Given the description of an element on the screen output the (x, y) to click on. 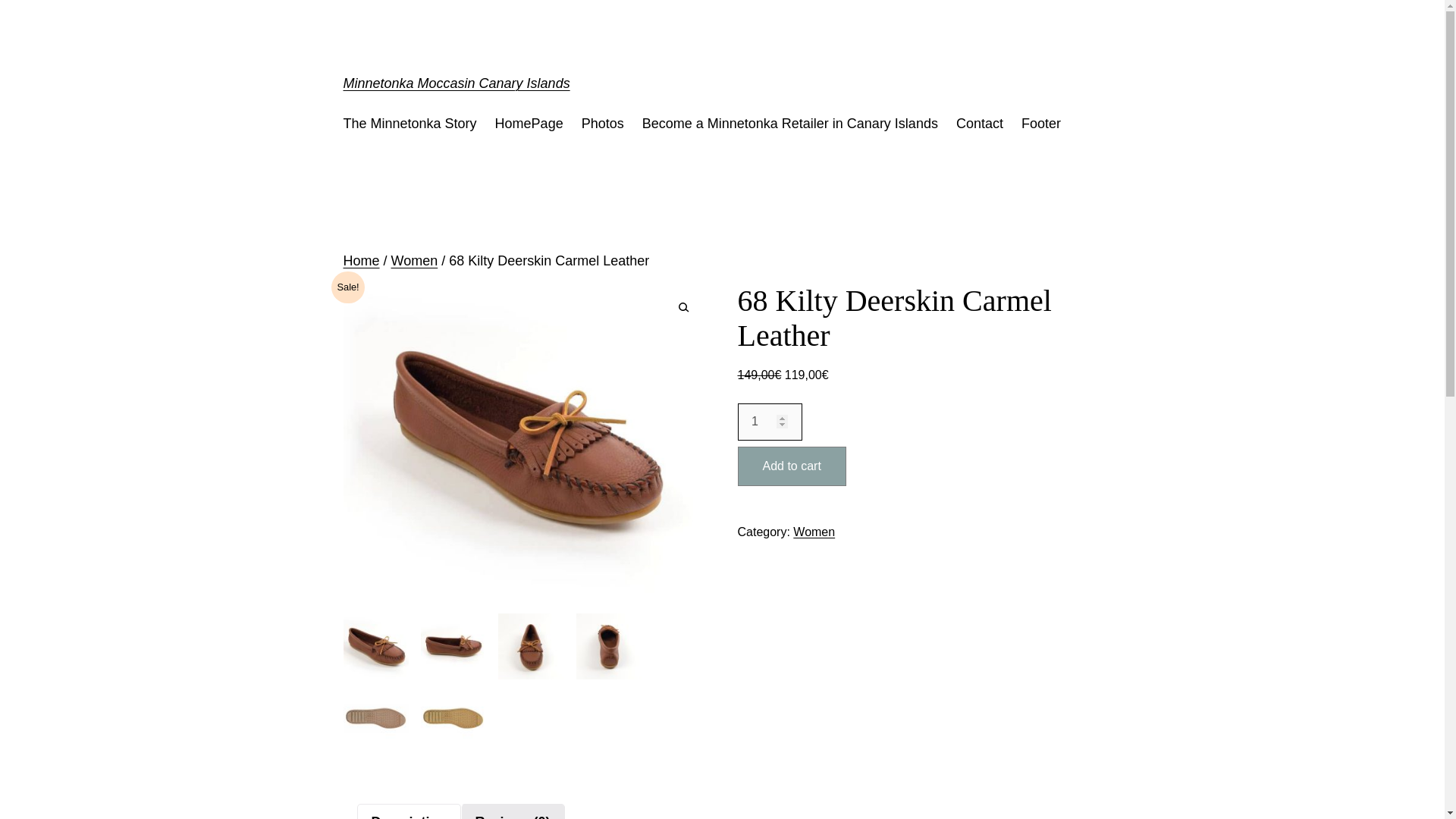
The Minnetonka Story (409, 124)
1 (769, 421)
Qty (769, 421)
Add to cart (790, 466)
HomePage (529, 124)
Contact (979, 124)
Minnetonka Moccasin Canary Islands (455, 83)
Home (360, 260)
Photos (602, 124)
Description (408, 816)
